Given the description of an element on the screen output the (x, y) to click on. 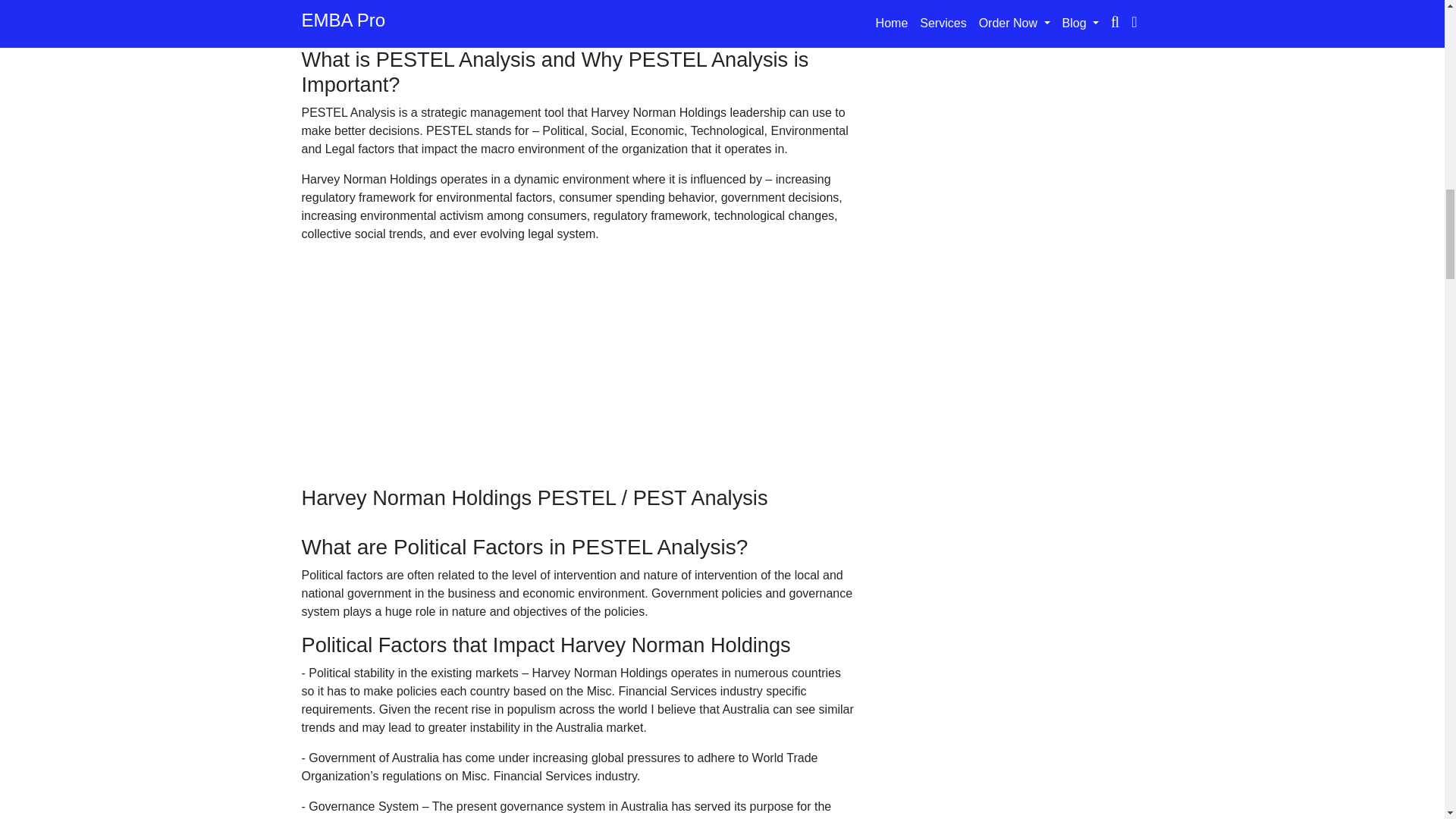
Advertisement (578, 379)
